Given the description of an element on the screen output the (x, y) to click on. 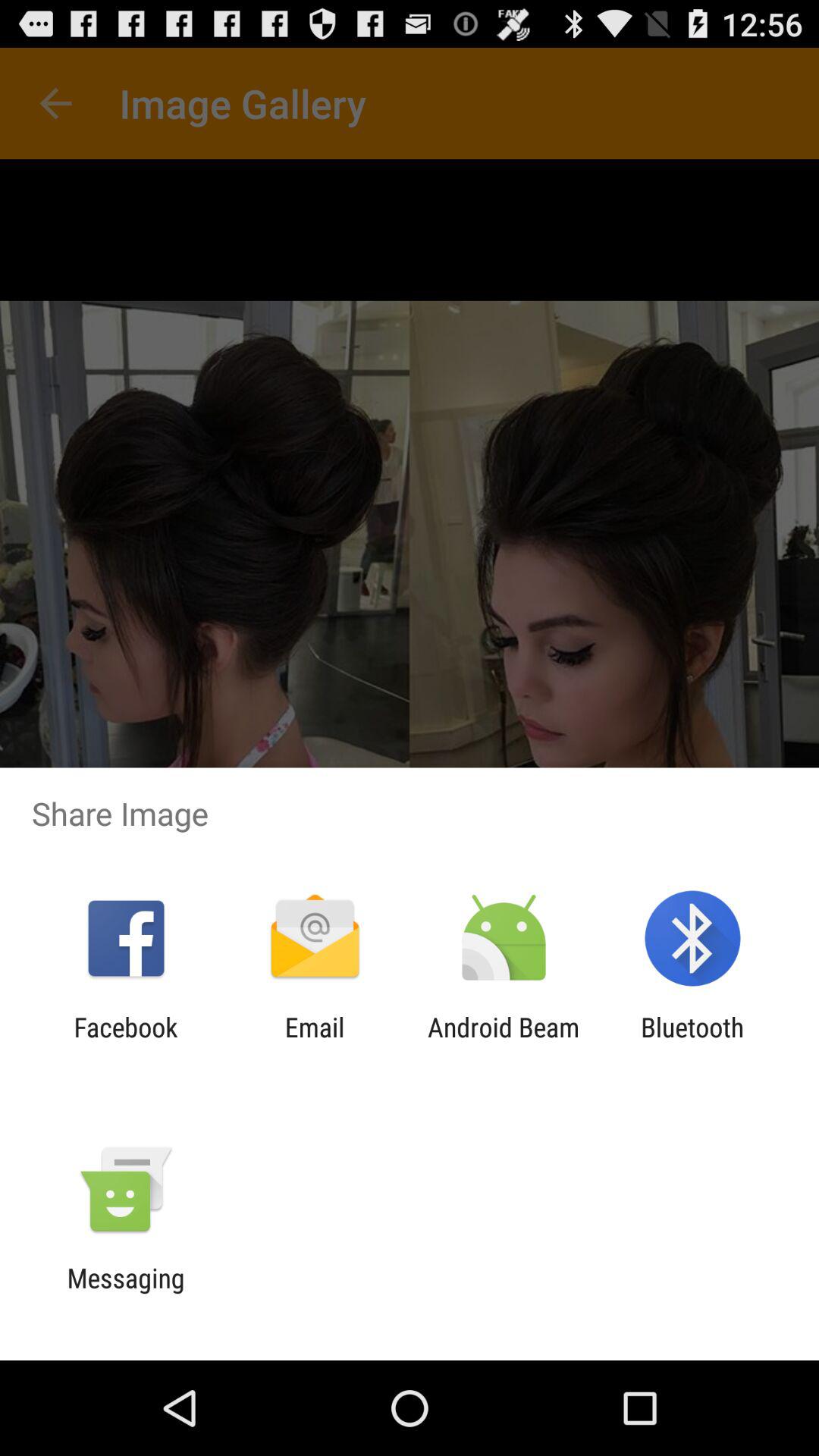
tap messaging (125, 1293)
